Given the description of an element on the screen output the (x, y) to click on. 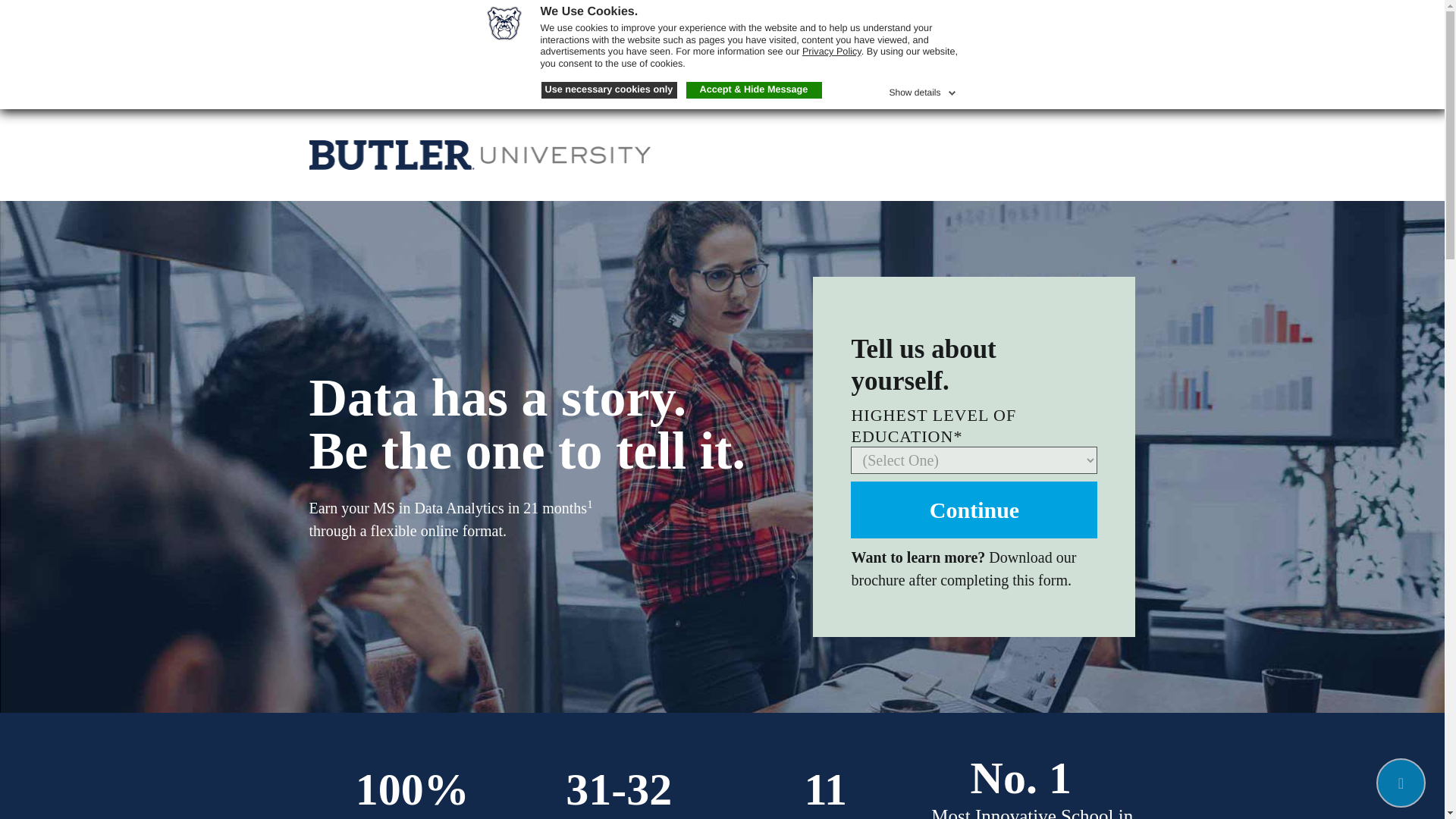
Continue (973, 509)
Use necessary cookies only (609, 89)
Show details (923, 89)
Privacy Policy (831, 50)
